Given the description of an element on the screen output the (x, y) to click on. 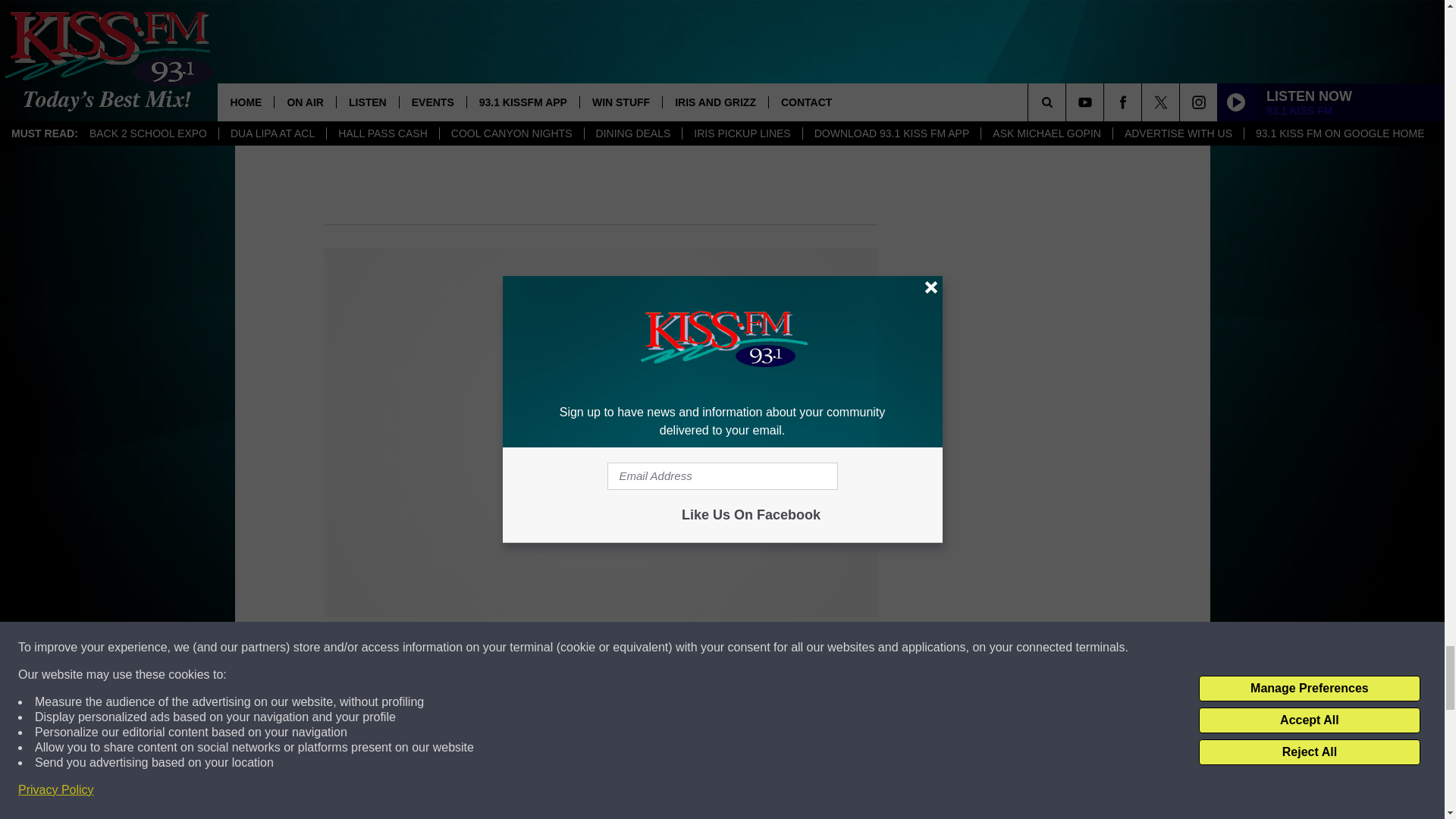
Email Address (600, 814)
